Given the description of an element on the screen output the (x, y) to click on. 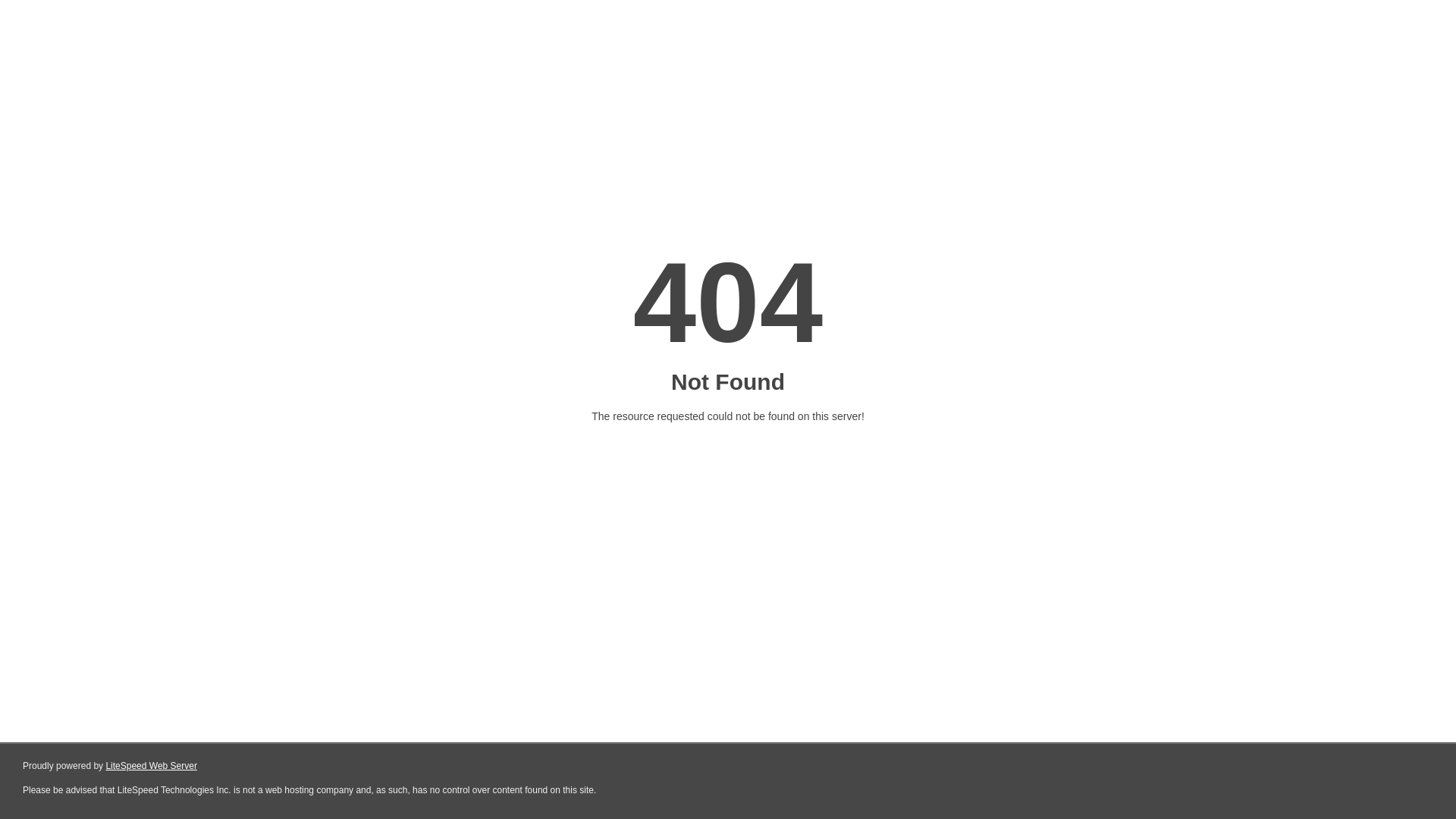
LiteSpeed Web Server (150, 765)
